Given the description of an element on the screen output the (x, y) to click on. 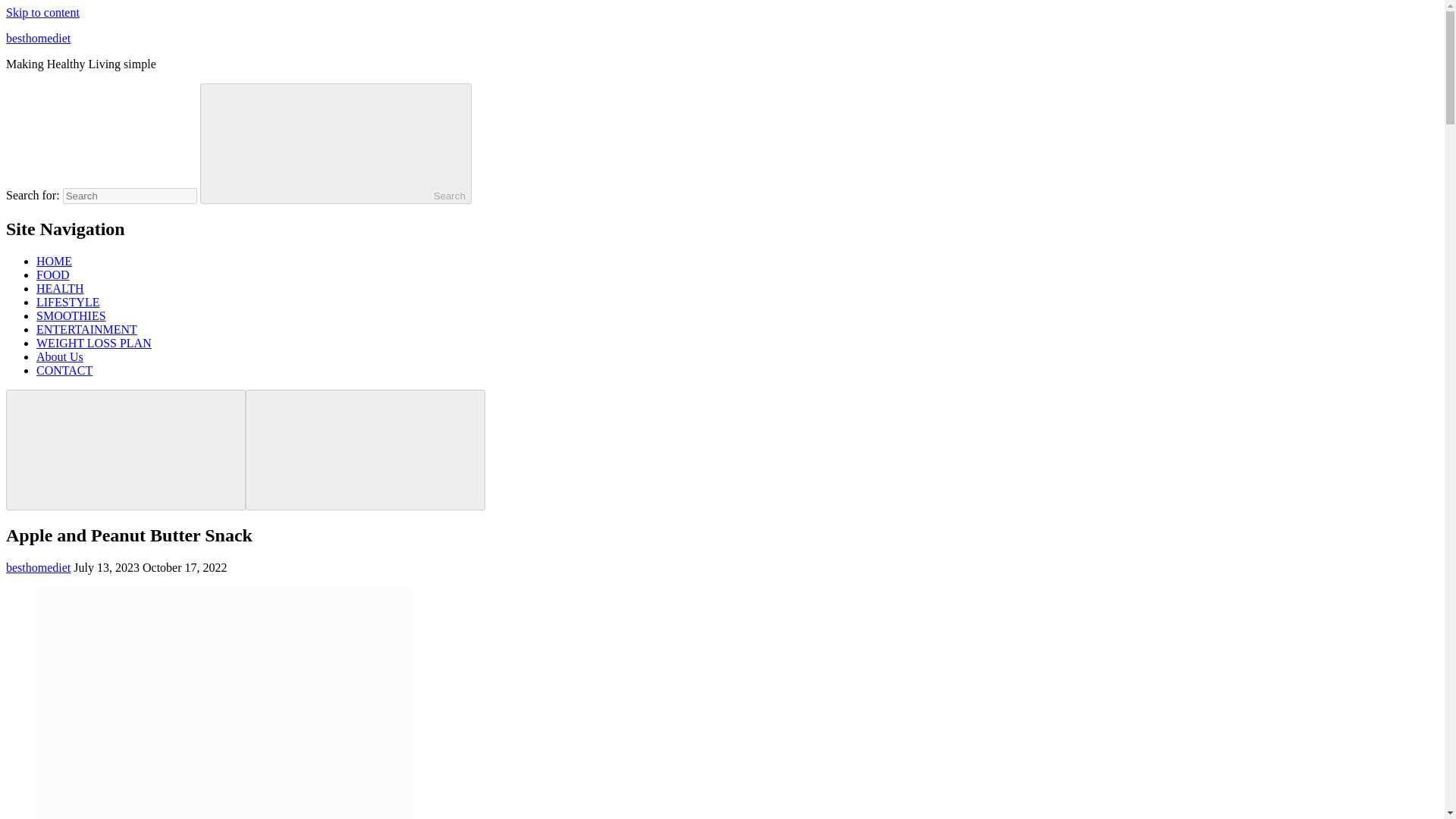
HOME (53, 260)
ENTERTAINMENT (86, 328)
besthomediet (37, 38)
Skip to content (42, 11)
WEIGHT LOSS PLAN (93, 342)
FOOD (52, 274)
SMOOTHIES (71, 315)
Search (335, 143)
HEALTH (60, 287)
About Us (59, 356)
LIFESTYLE (68, 301)
CONTACT (64, 369)
besthomediet (37, 567)
Search for: (129, 195)
